Given the description of an element on the screen output the (x, y) to click on. 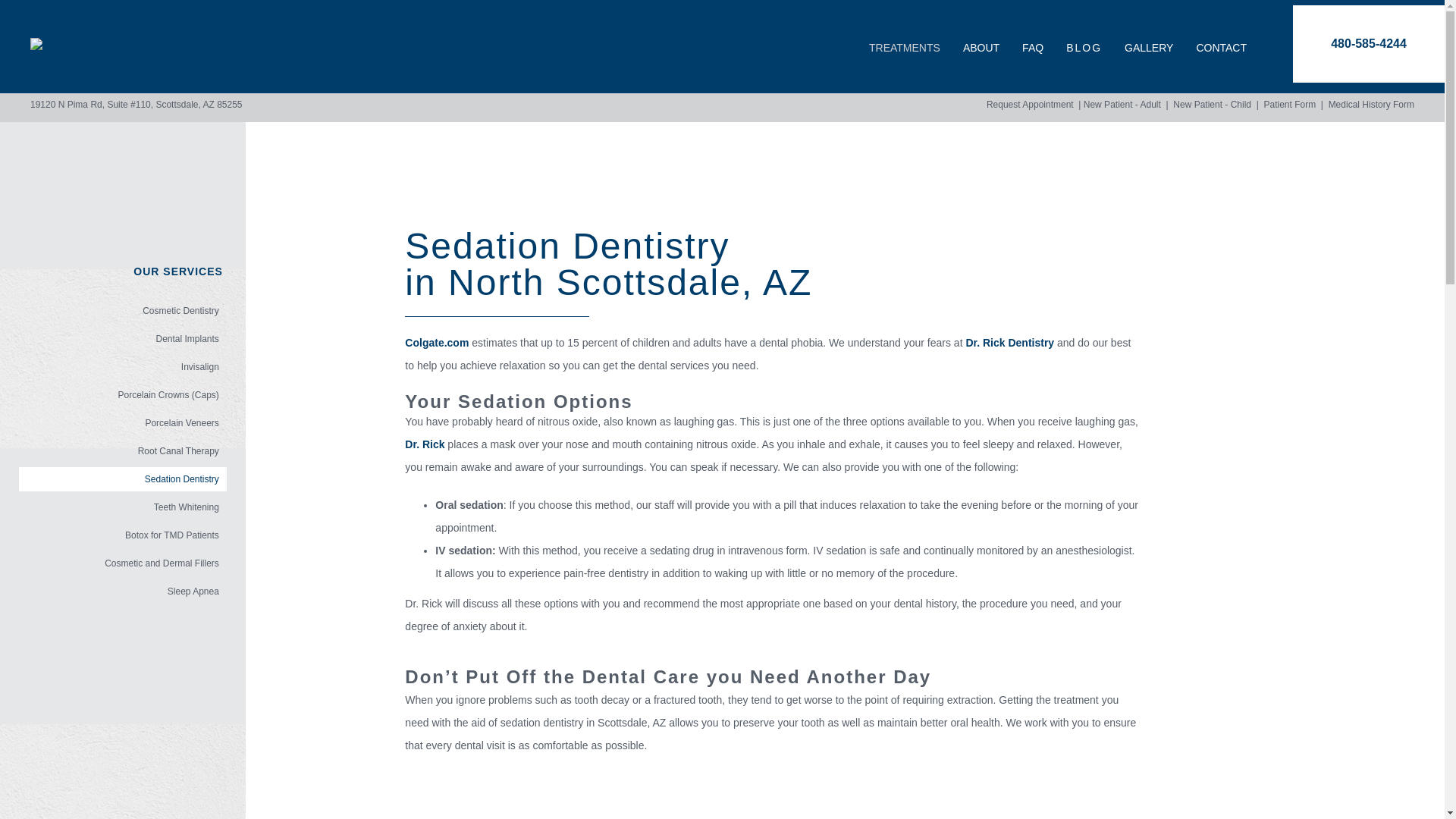
GALLERY (1148, 47)
CONTACT (1220, 47)
Request Appointment (1030, 104)
New Patient - Adult (1121, 104)
BLOG (1083, 43)
FAQ (1032, 47)
ABOUT (981, 47)
TREATMENTS (904, 47)
